Given the description of an element on the screen output the (x, y) to click on. 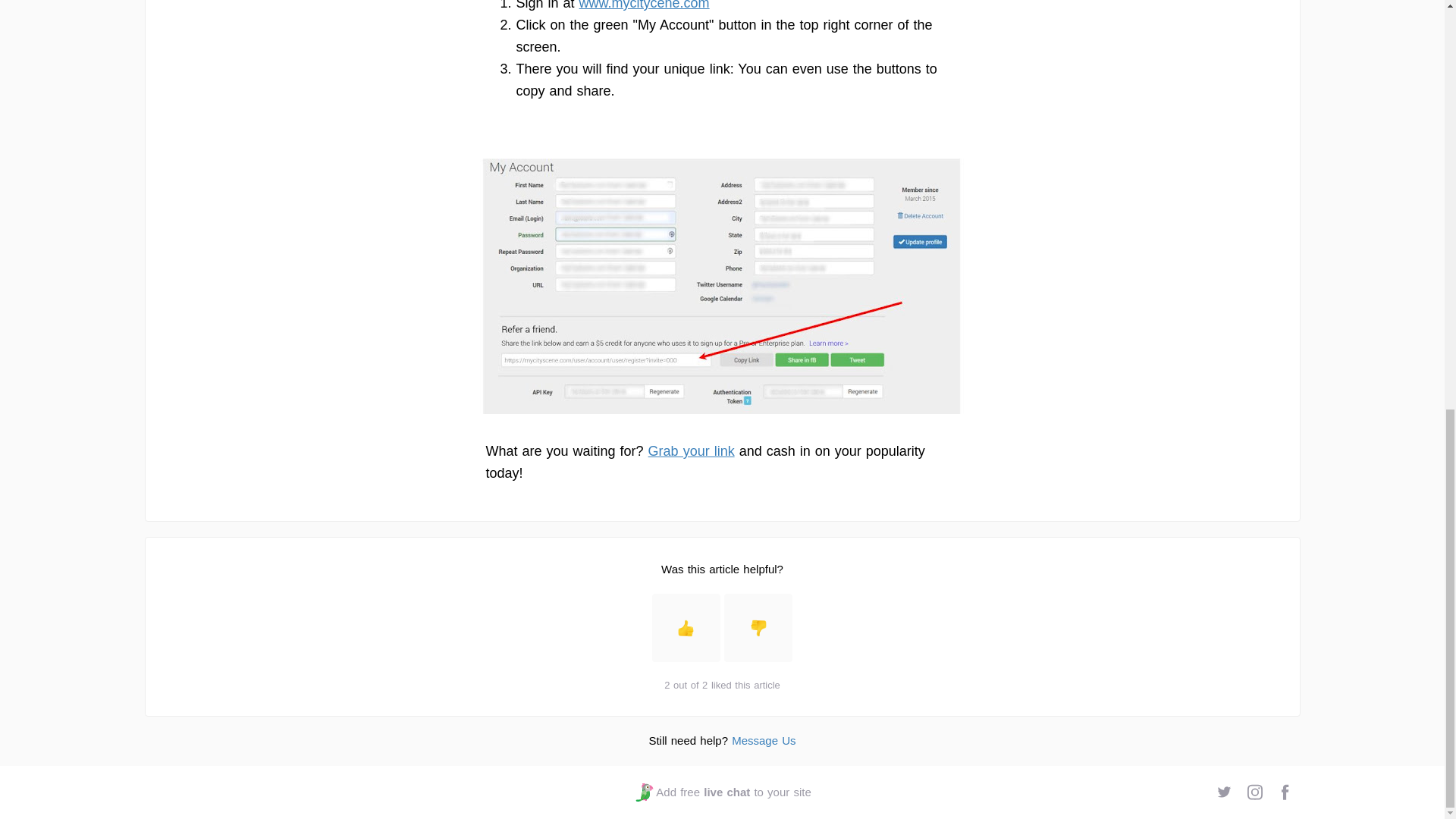
Message Us (763, 739)
www.mycitycene.com (644, 5)
Grab your link (721, 791)
